Given the description of an element on the screen output the (x, y) to click on. 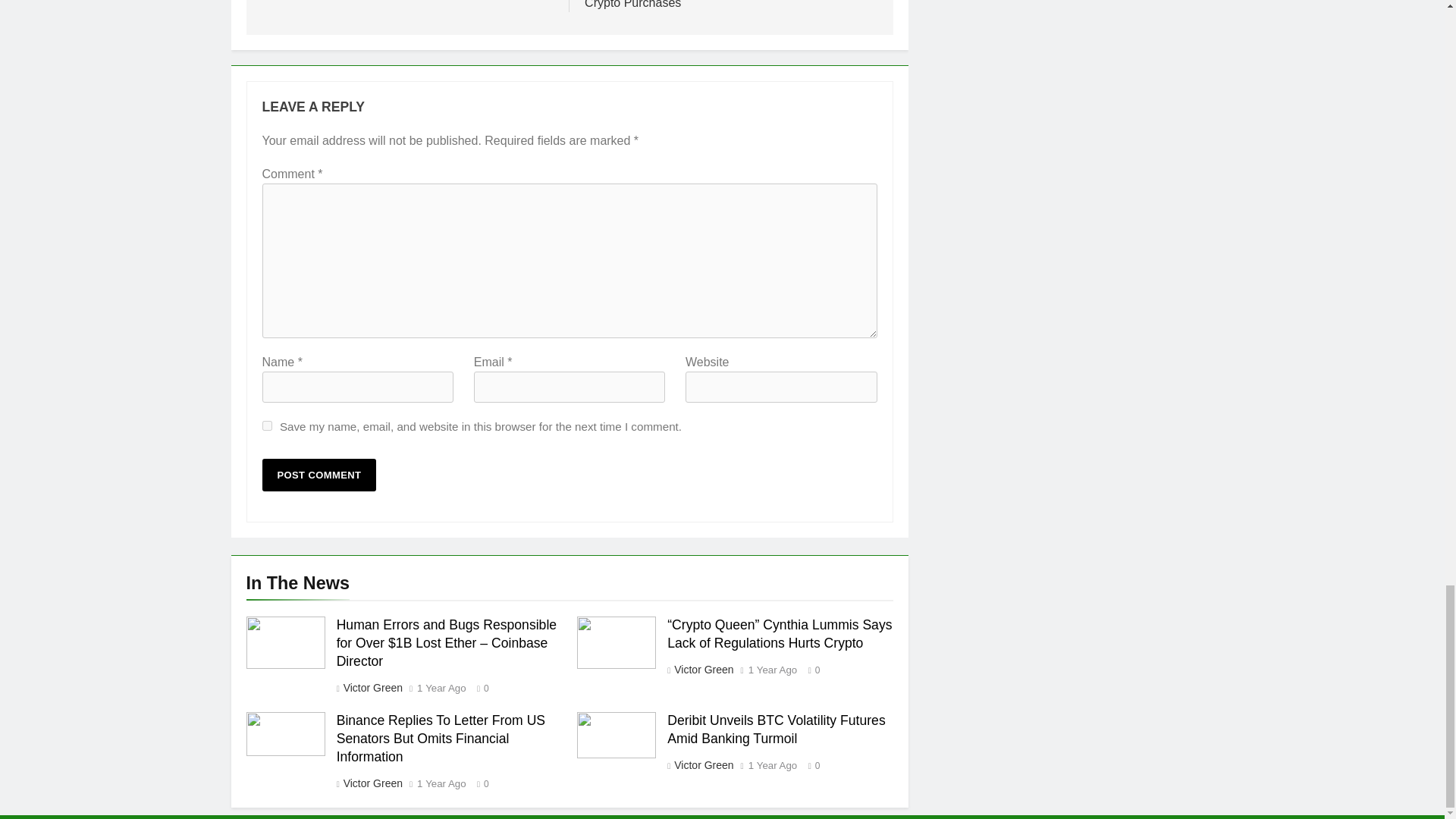
yes (267, 425)
Post Comment (319, 474)
